Given the description of an element on the screen output the (x, y) to click on. 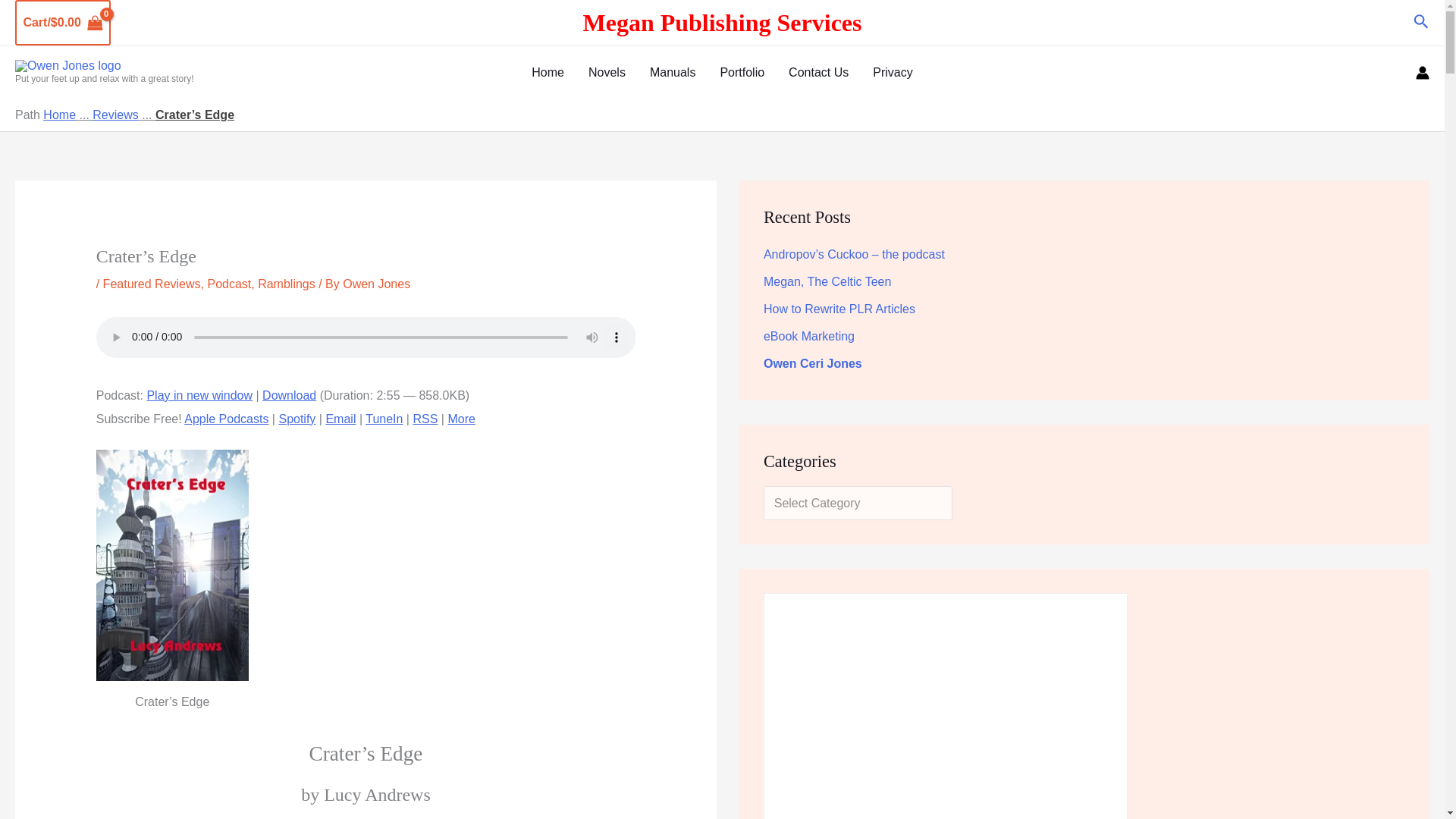
Owen Jones (376, 283)
Privacy (892, 72)
Home (547, 72)
Contact Us (818, 72)
Spotify (296, 418)
Home (59, 114)
Play in new window (199, 395)
RSS (425, 418)
Download (288, 395)
Download (288, 395)
Podcast (228, 283)
Megan Publishing Services (721, 25)
Ramblings (286, 283)
Subscribe on Apple Podcasts (225, 418)
More (460, 418)
